Given the description of an element on the screen output the (x, y) to click on. 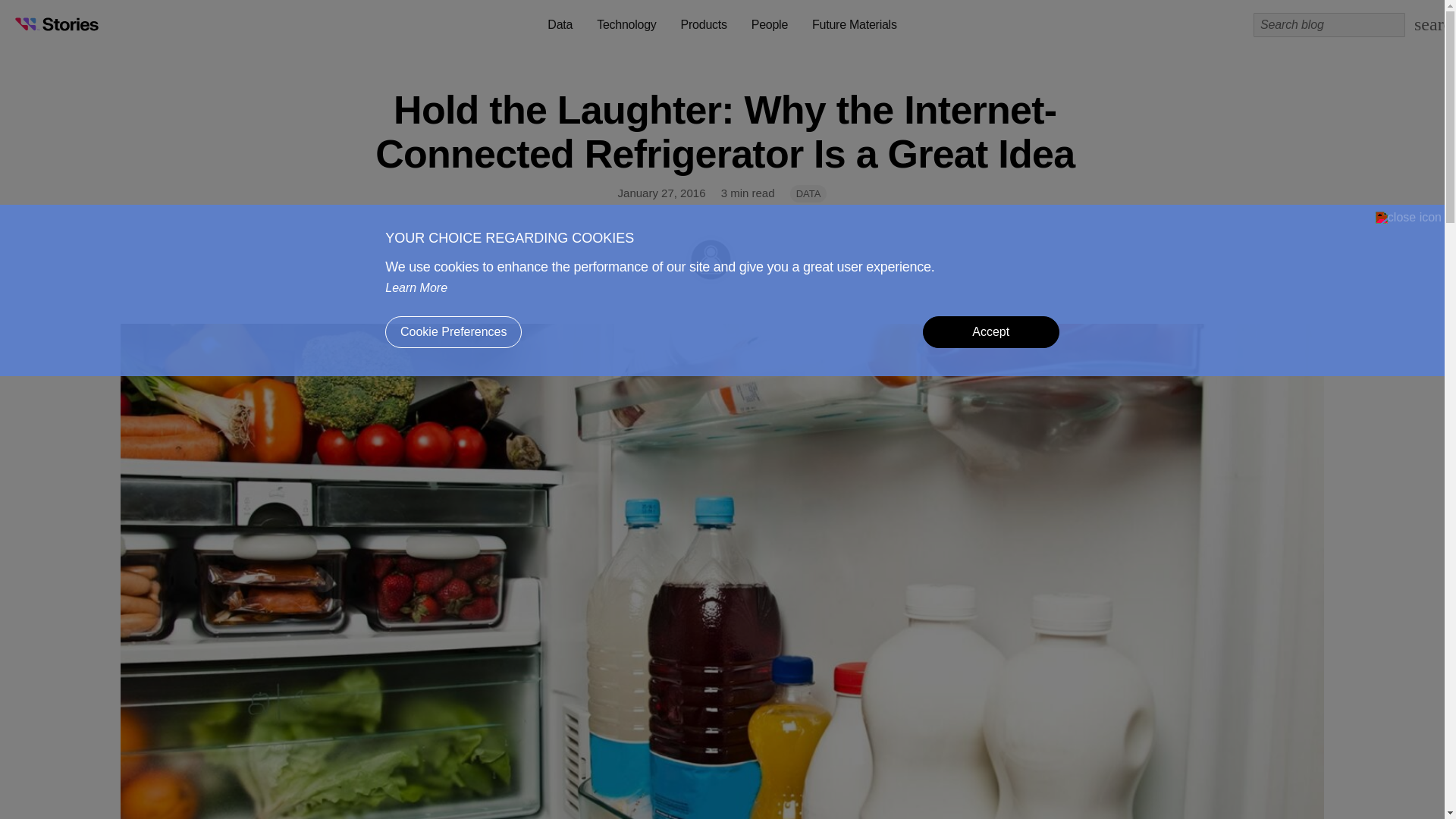
Learn More (415, 288)
Search for: (1329, 24)
Products (703, 24)
Future Materials (854, 24)
People (769, 24)
Data (559, 24)
DATA (808, 202)
Technology (626, 24)
Cookie Preferences (453, 332)
Accept (991, 332)
